Given the description of an element on the screen output the (x, y) to click on. 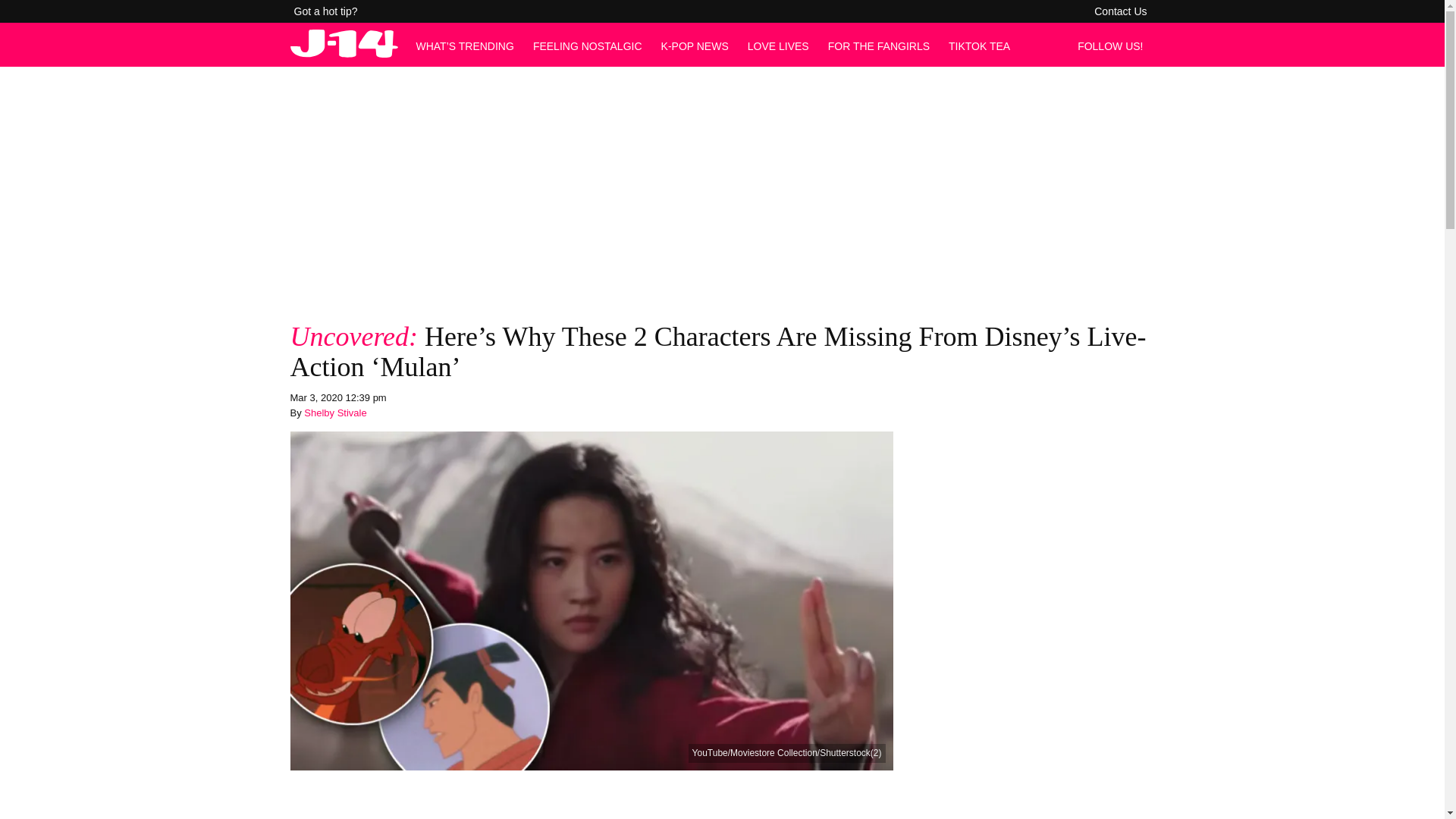
Got a hot tip? (325, 11)
TIKTOK TEA (979, 46)
FOLLOW US! (1114, 45)
K-POP NEWS (695, 46)
Home (343, 52)
FEELING NOSTALGIC (587, 46)
Contact Us (1120, 11)
Posts by Shelby Stivale (335, 412)
Shelby Stivale (335, 412)
LOVE LIVES (778, 46)
